Given the description of an element on the screen output the (x, y) to click on. 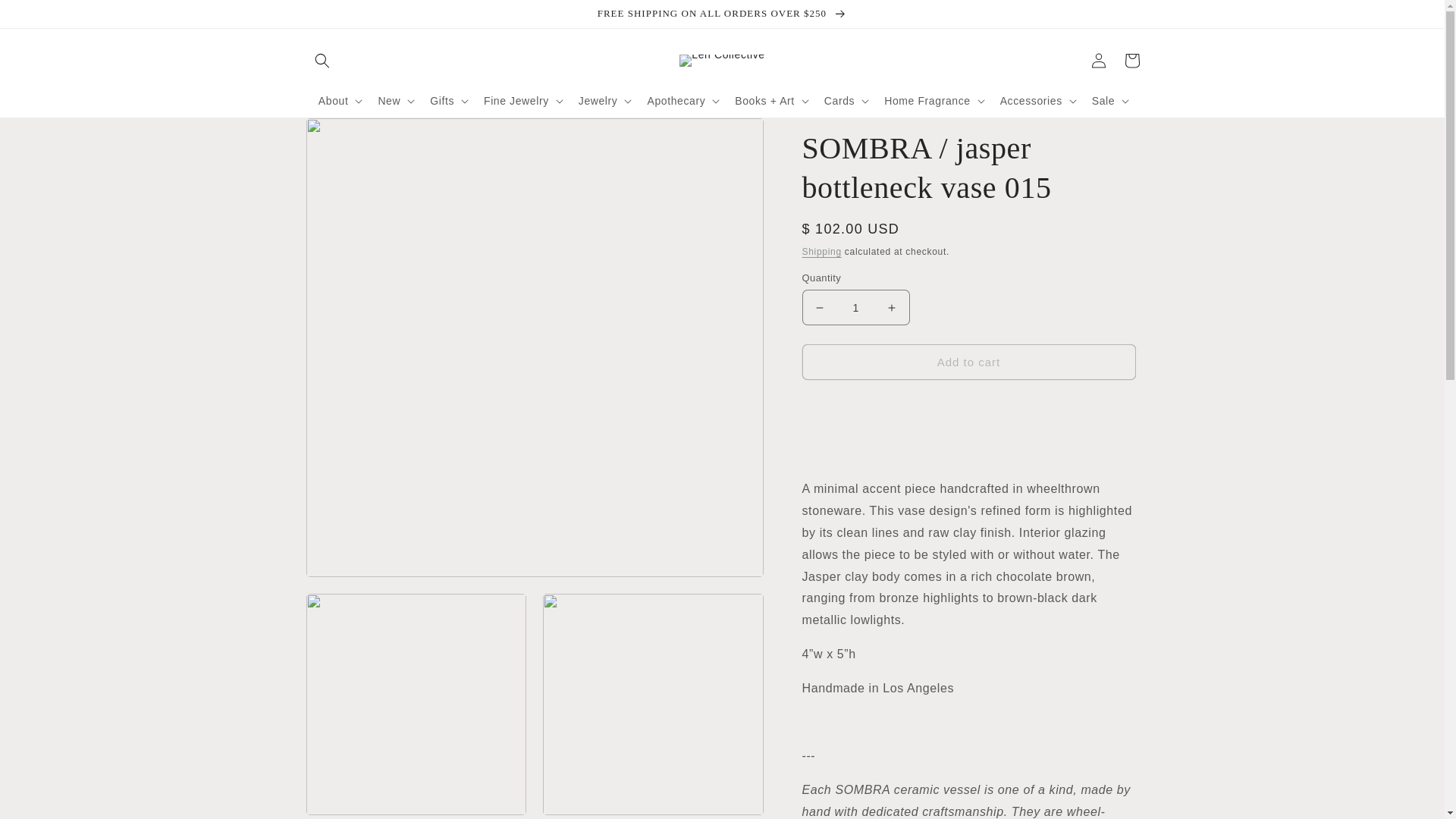
1 (856, 307)
Skip to content (45, 17)
